Given the description of an element on the screen output the (x, y) to click on. 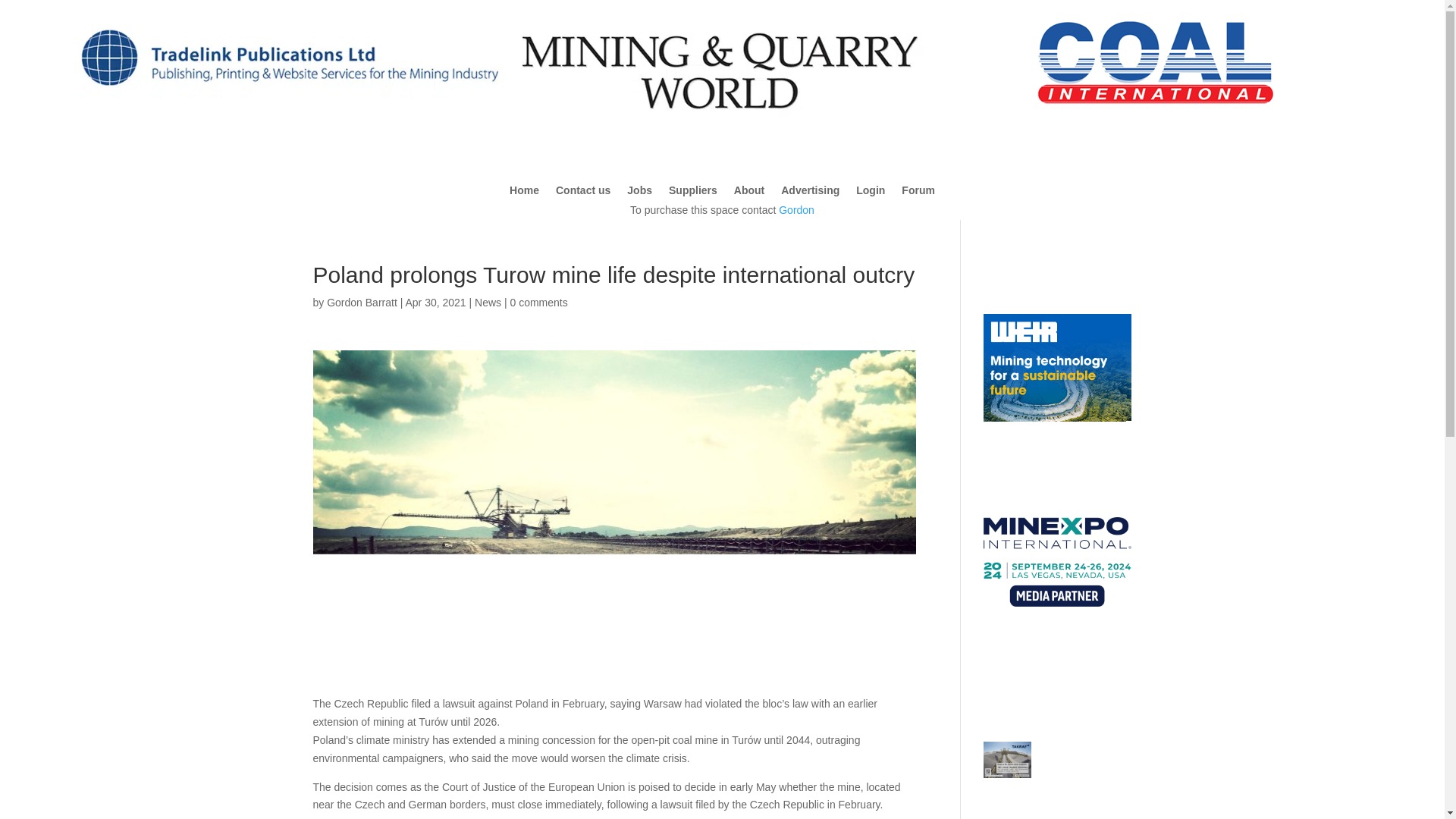
News (487, 302)
Advertising (810, 193)
0 comments (538, 302)
Gordon (795, 209)
About (748, 193)
Home (523, 193)
Forum (917, 193)
Posts by Gordon Barratt (361, 302)
Jobs (639, 193)
Contact us (583, 193)
tradelinkpublications logo (288, 105)
Gordon Barratt (361, 302)
Suppliers (692, 193)
Coal internalional (1156, 61)
Login (870, 193)
